Given the description of an element on the screen output the (x, y) to click on. 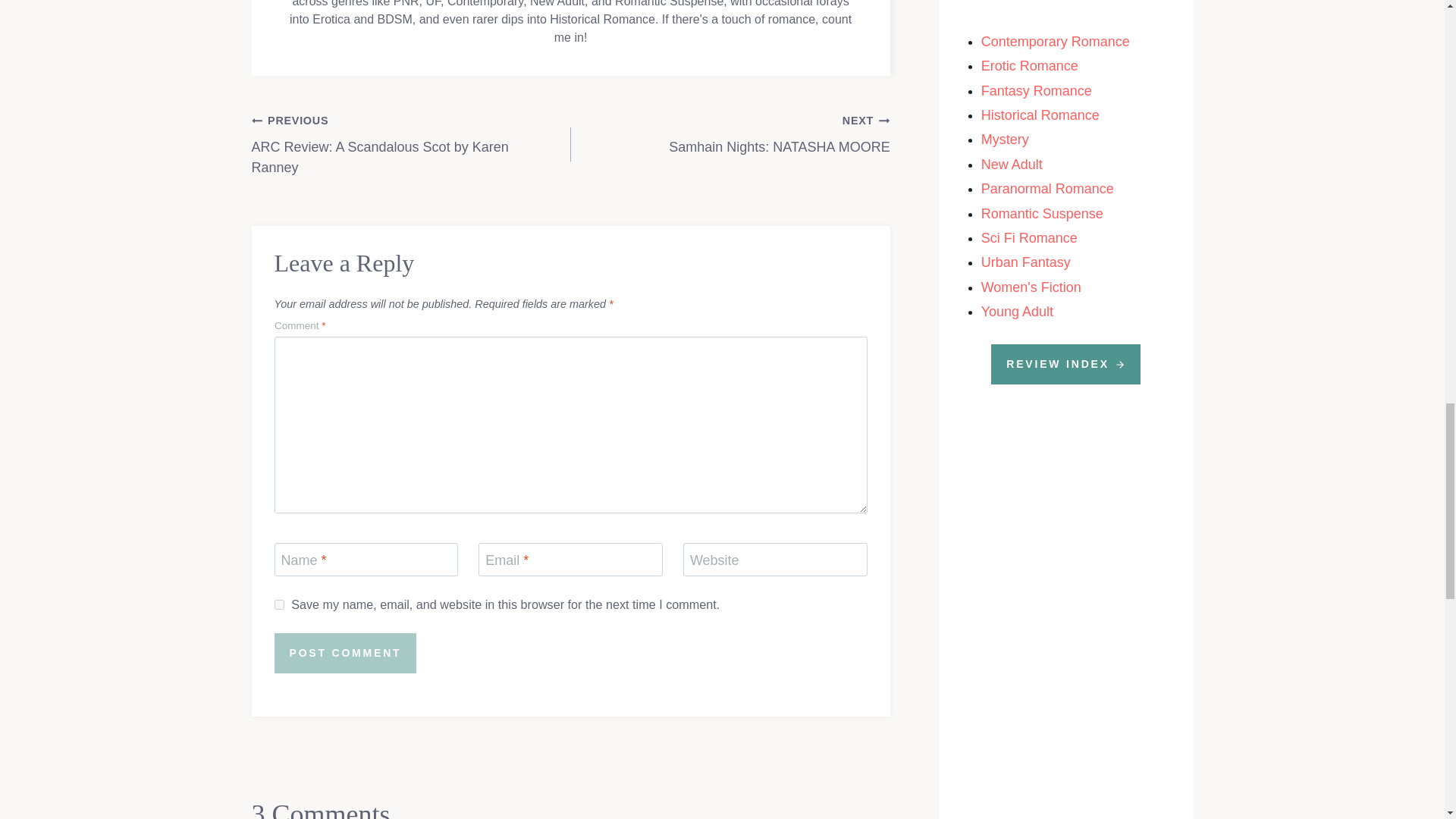
yes (410, 143)
Post Comment (279, 604)
